Given the description of an element on the screen output the (x, y) to click on. 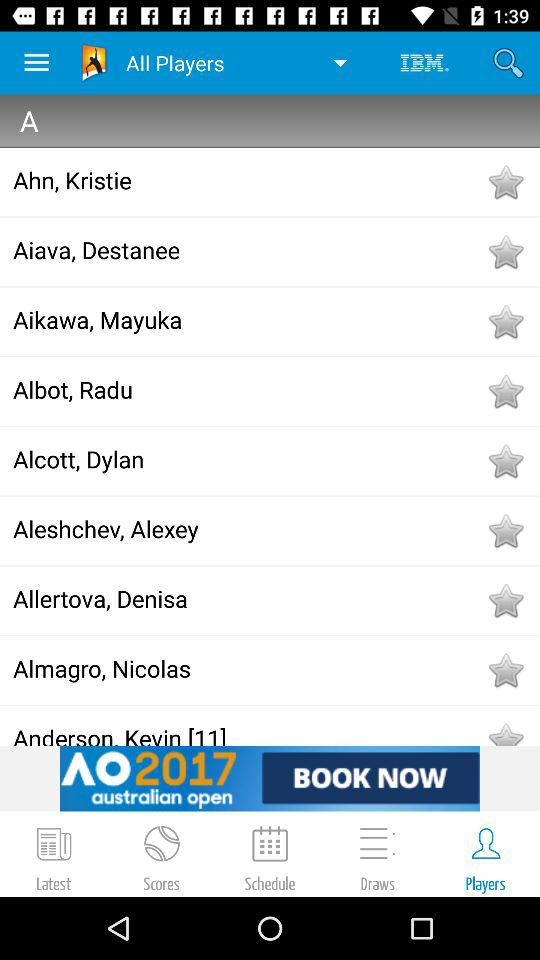
add to favorites (505, 391)
